Given the description of an element on the screen output the (x, y) to click on. 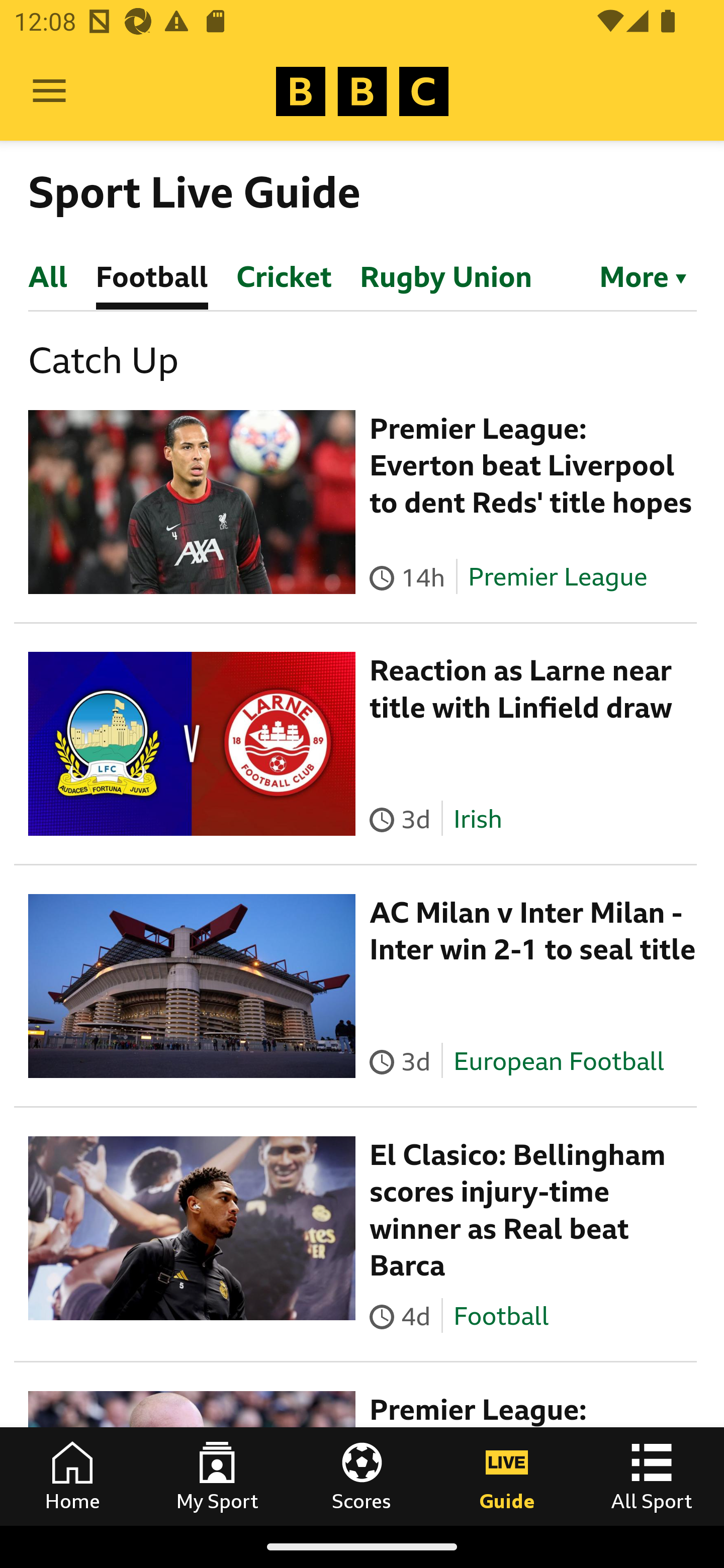
Open Menu (49, 91)
Filter by section. Currently selected: Football (634, 275)
Premier League (557, 576)
Reaction as Larne near title with Linfield draw (521, 688)
Irish (477, 818)
European Football (558, 1060)
Football (500, 1315)
Home (72, 1475)
My Sport (216, 1475)
Scores (361, 1475)
All Sport (651, 1475)
